Given the description of an element on the screen output the (x, y) to click on. 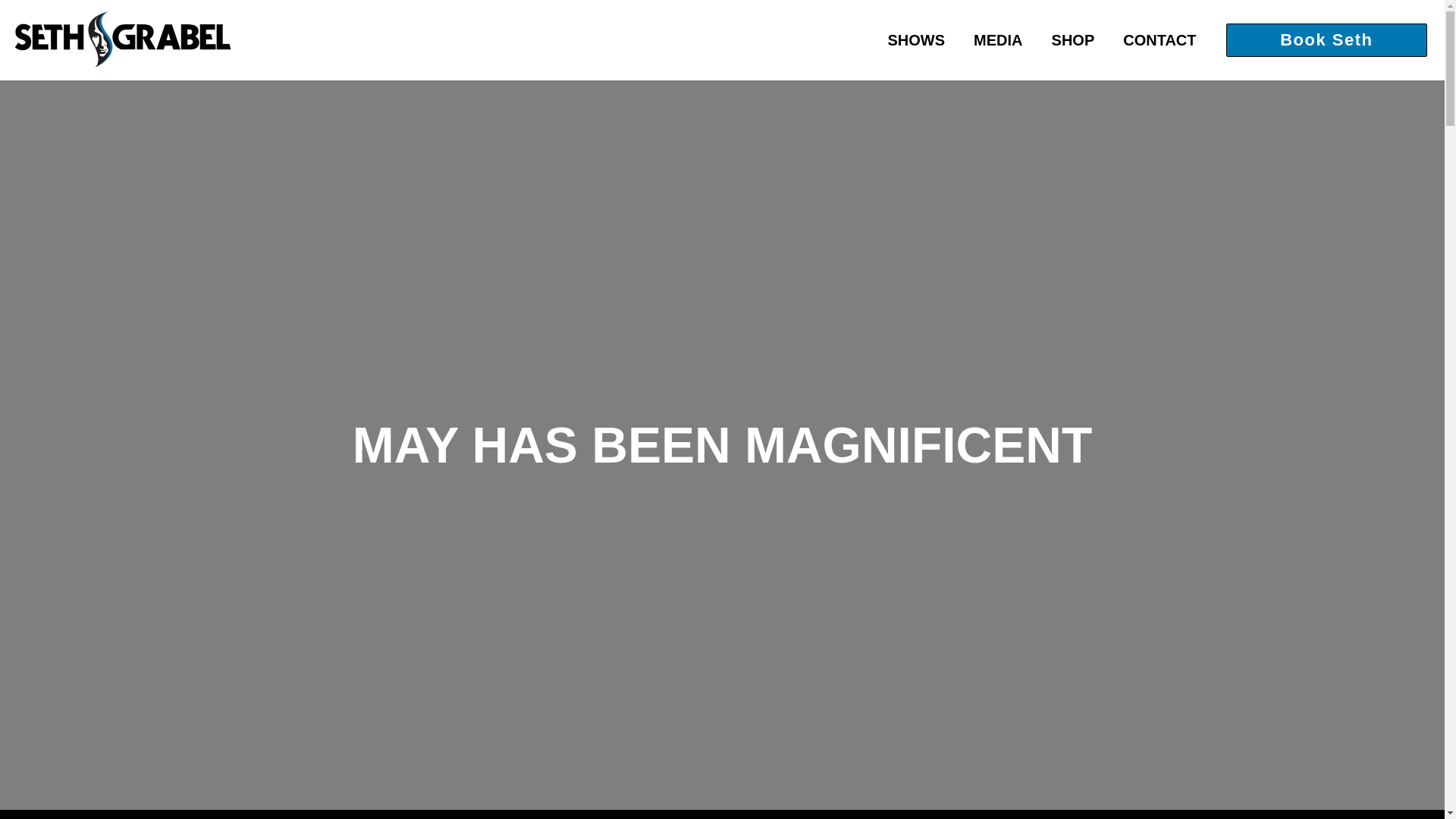
CONTACT (1158, 39)
MEDIA (997, 39)
SHOWS (916, 39)
SHOP (1072, 39)
